Given the description of an element on the screen output the (x, y) to click on. 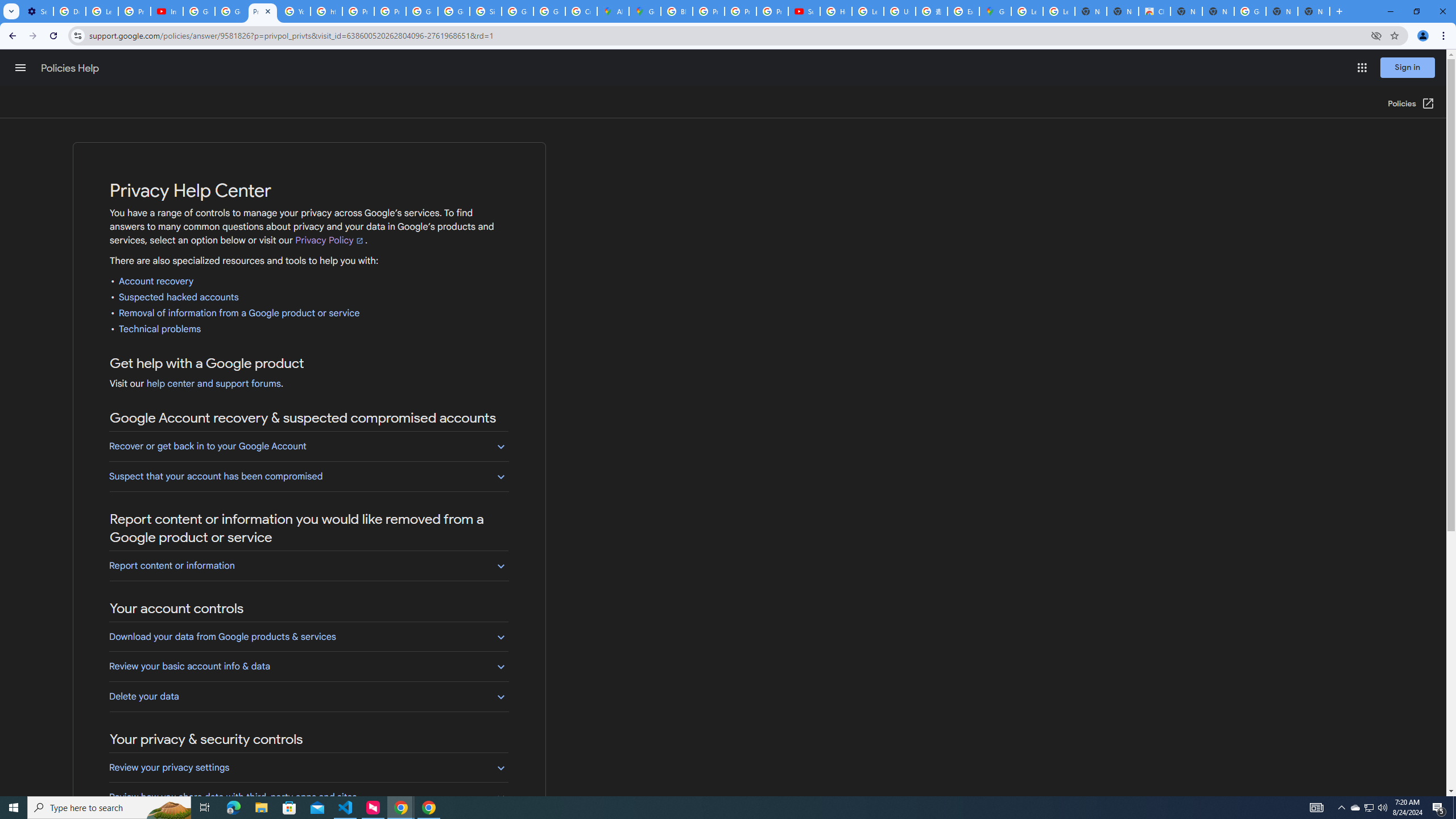
Removal of information from a Google product or service (239, 313)
Learn how to find your photos - Google Photos Help (101, 11)
https://scholar.google.com/ (326, 11)
Delete photos & videos - Computer - Google Photos Help (69, 11)
Delete your data (308, 696)
Settings - Customize profile (37, 11)
Main menu (20, 67)
Suspected hacked accounts (178, 297)
